Given the description of an element on the screen output the (x, y) to click on. 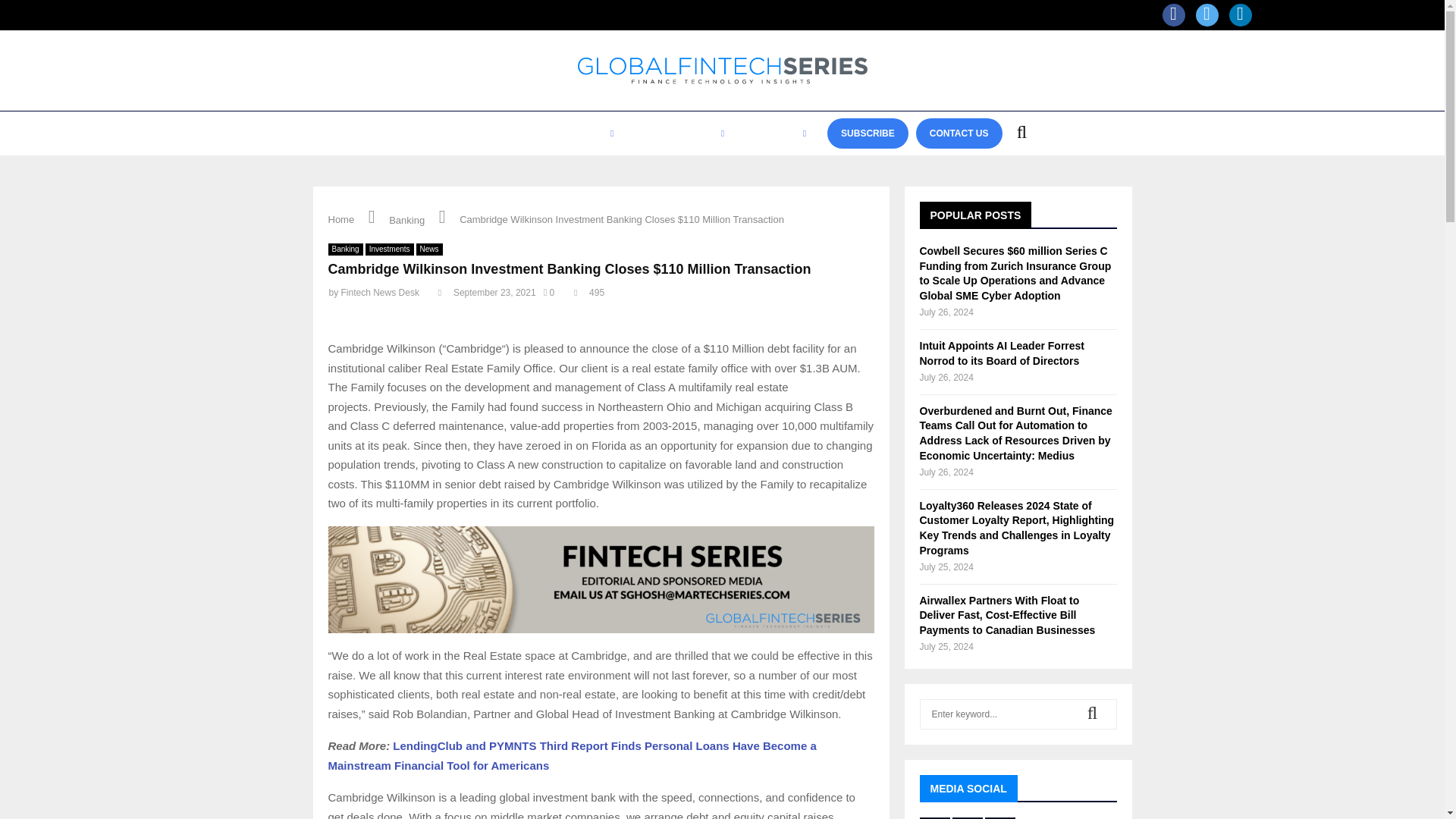
SUBSCRIBE (867, 132)
CONTACT US (959, 132)
INTERVIEWS (506, 133)
Home (340, 219)
FINTECH RADAR (682, 133)
INSIGHTS (587, 133)
SERVICES (778, 133)
NEWS (437, 133)
